Given the description of an element on the screen output the (x, y) to click on. 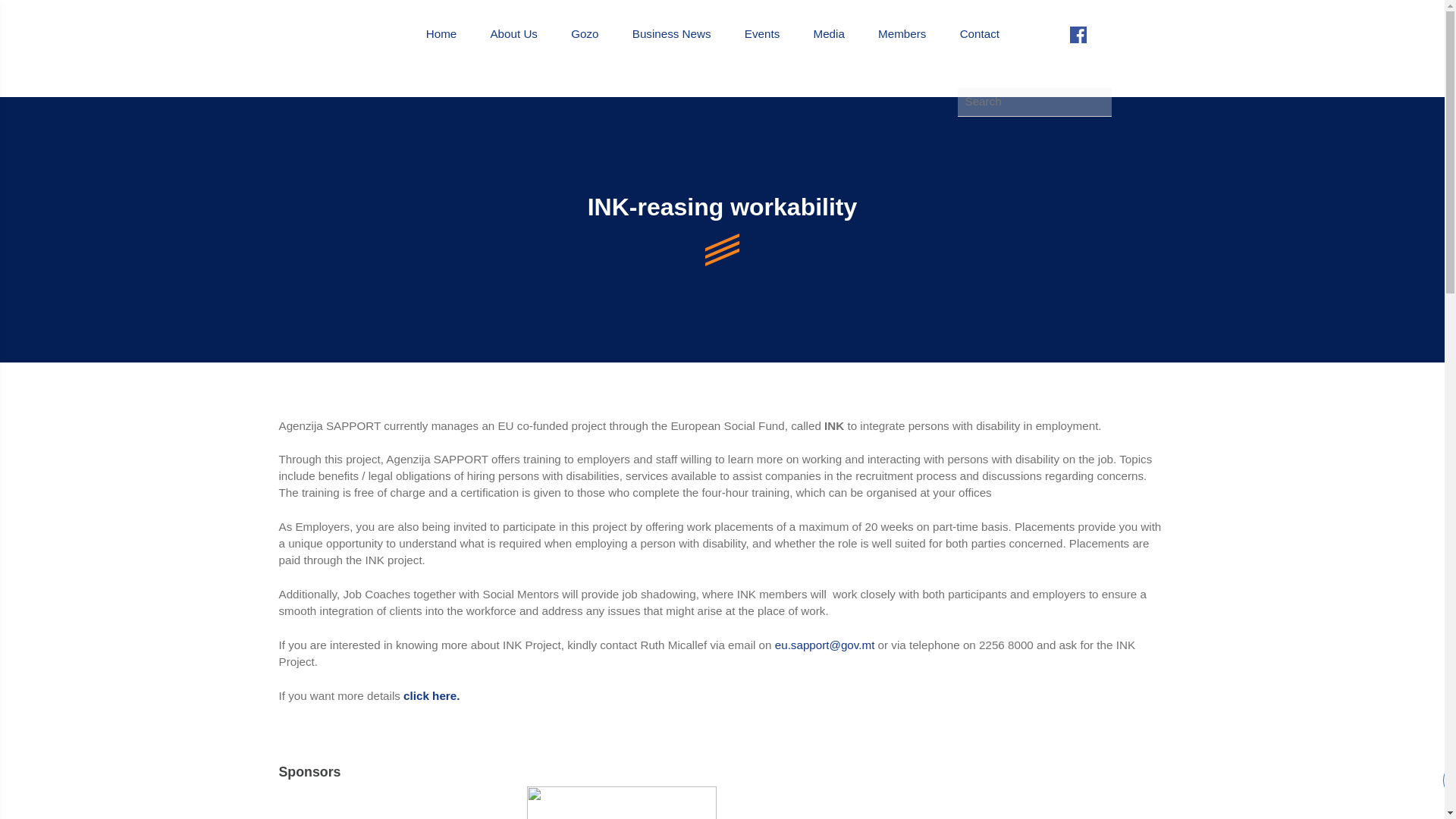
Gozo (584, 33)
Media (828, 33)
Business News (671, 33)
Contact (978, 33)
click here. (431, 695)
Home (441, 33)
Members (901, 33)
About Us (513, 33)
Events (761, 33)
